Given the description of an element on the screen output the (x, y) to click on. 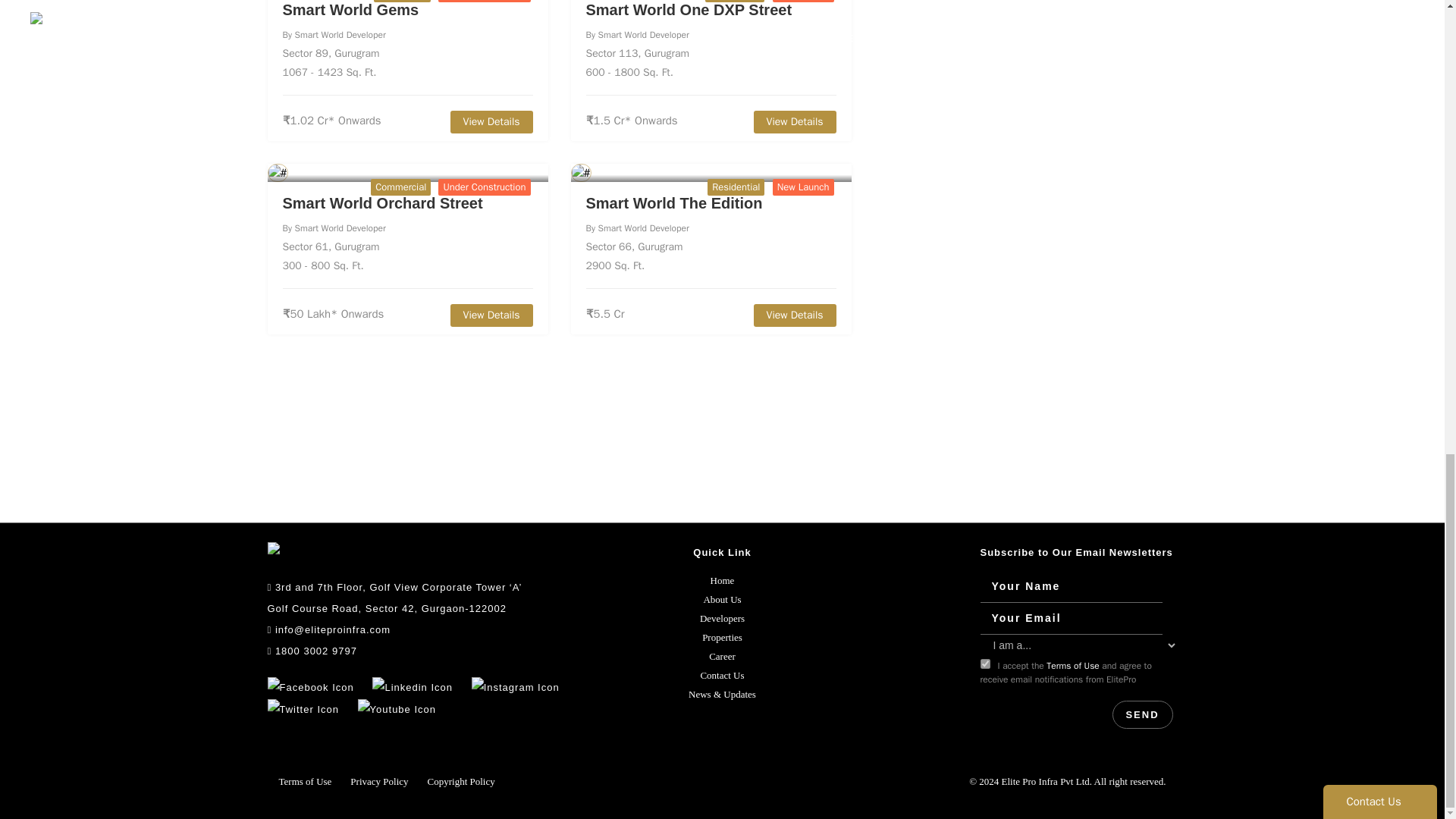
Submit (1380, 7)
Send (1142, 714)
on (984, 664)
